Given the description of an element on the screen output the (x, y) to click on. 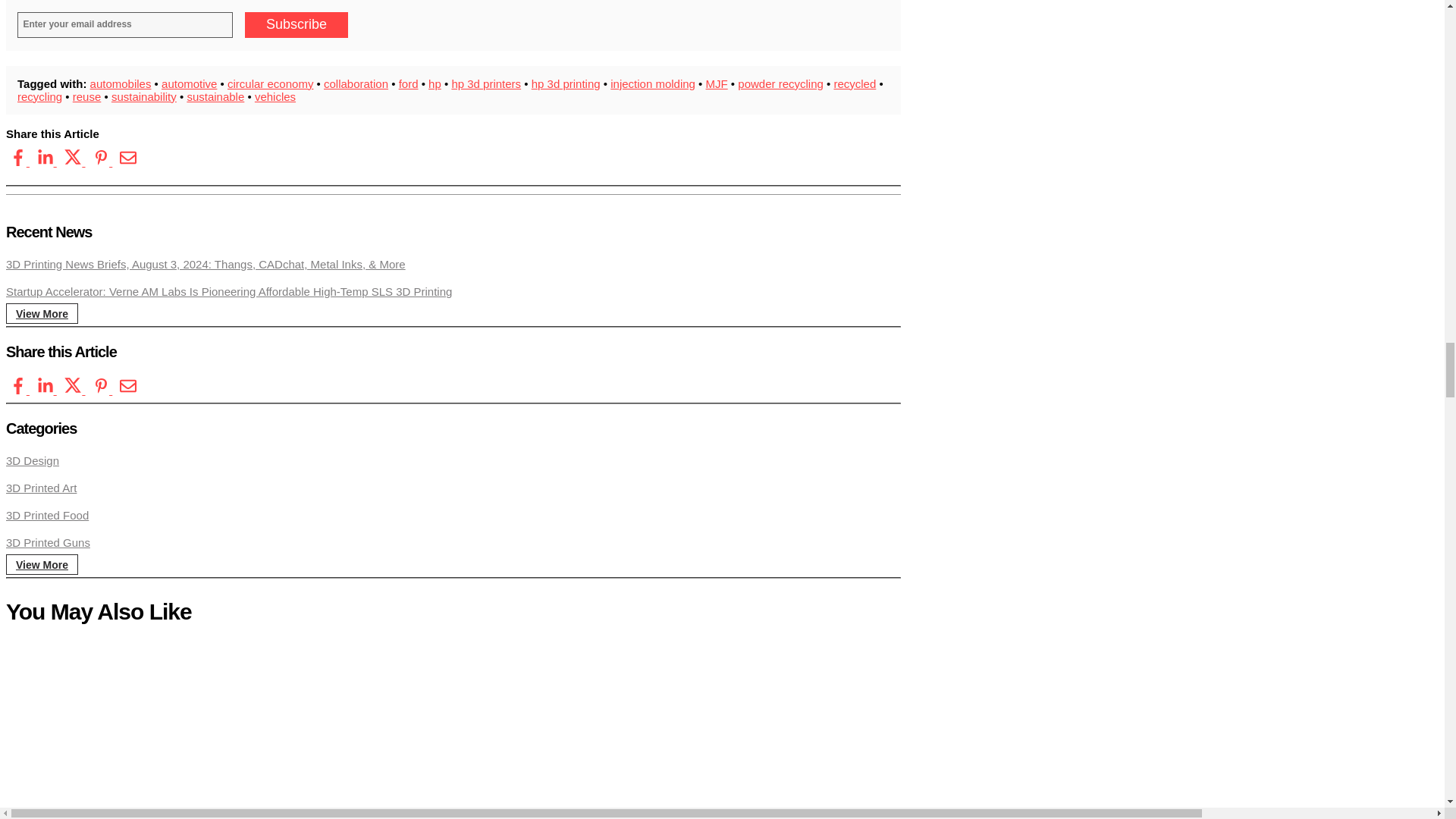
Subscribe (295, 24)
